Given the description of an element on the screen output the (x, y) to click on. 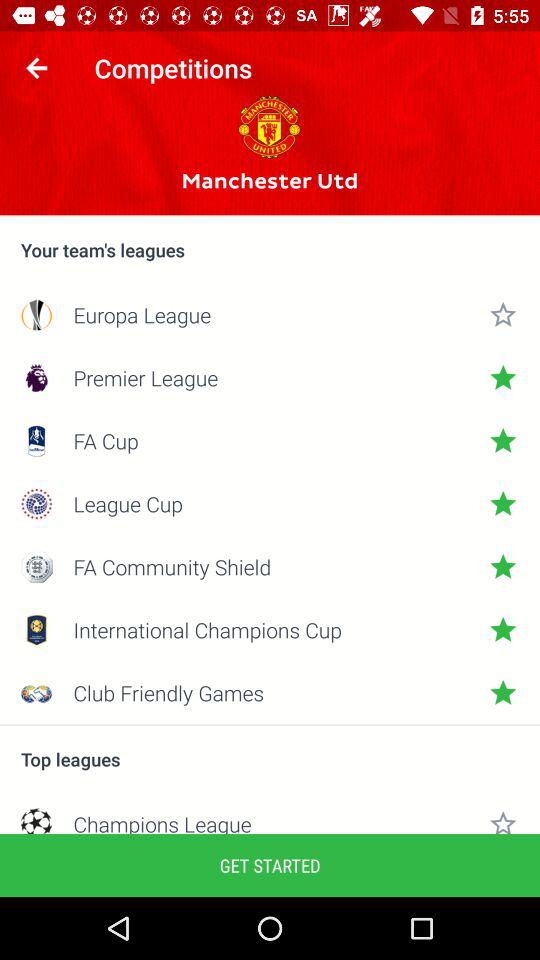
turn on the item below the fa cup icon (269, 503)
